Given the description of an element on the screen output the (x, y) to click on. 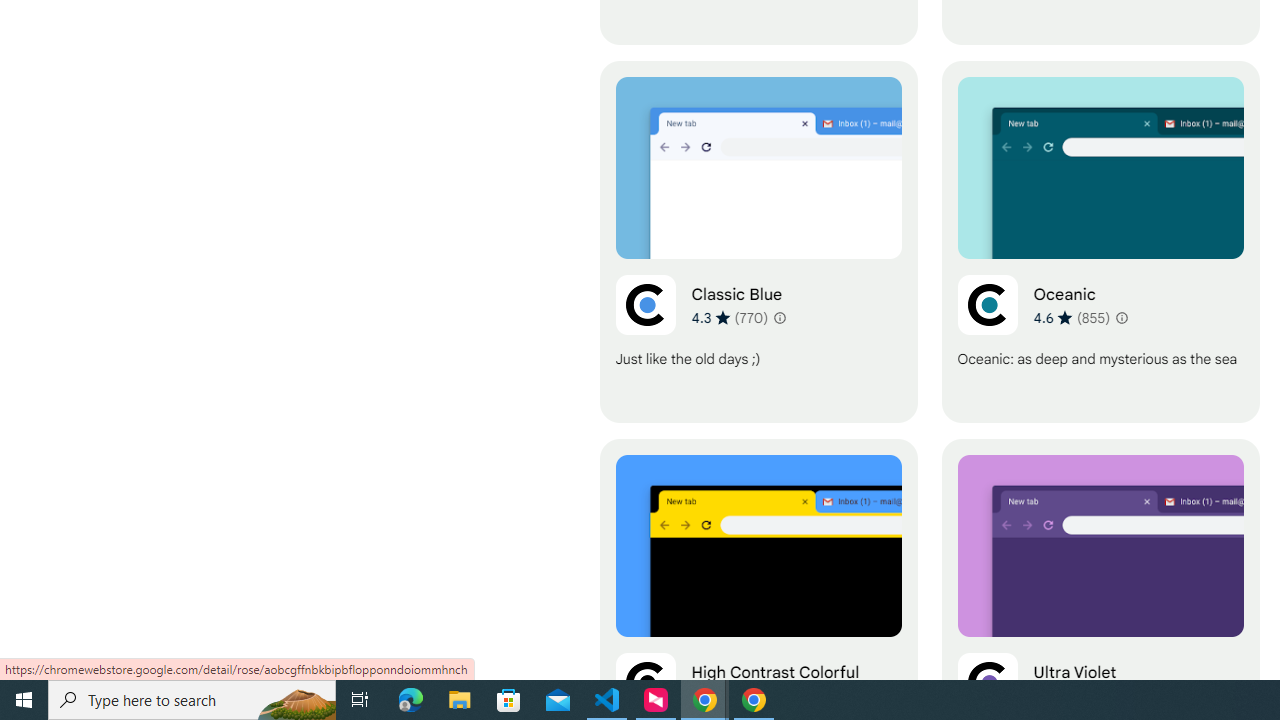
Learn more about results and reviews "Oceanic" (1120, 317)
Average rating 4.6 out of 5 stars. 855 ratings. (1071, 317)
Learn more about results and reviews "Classic Blue" (778, 317)
Average rating 4.3 out of 5 stars. 770 ratings. (730, 317)
Classic Blue (758, 242)
Oceanic (1099, 242)
